Given the description of an element on the screen output the (x, y) to click on. 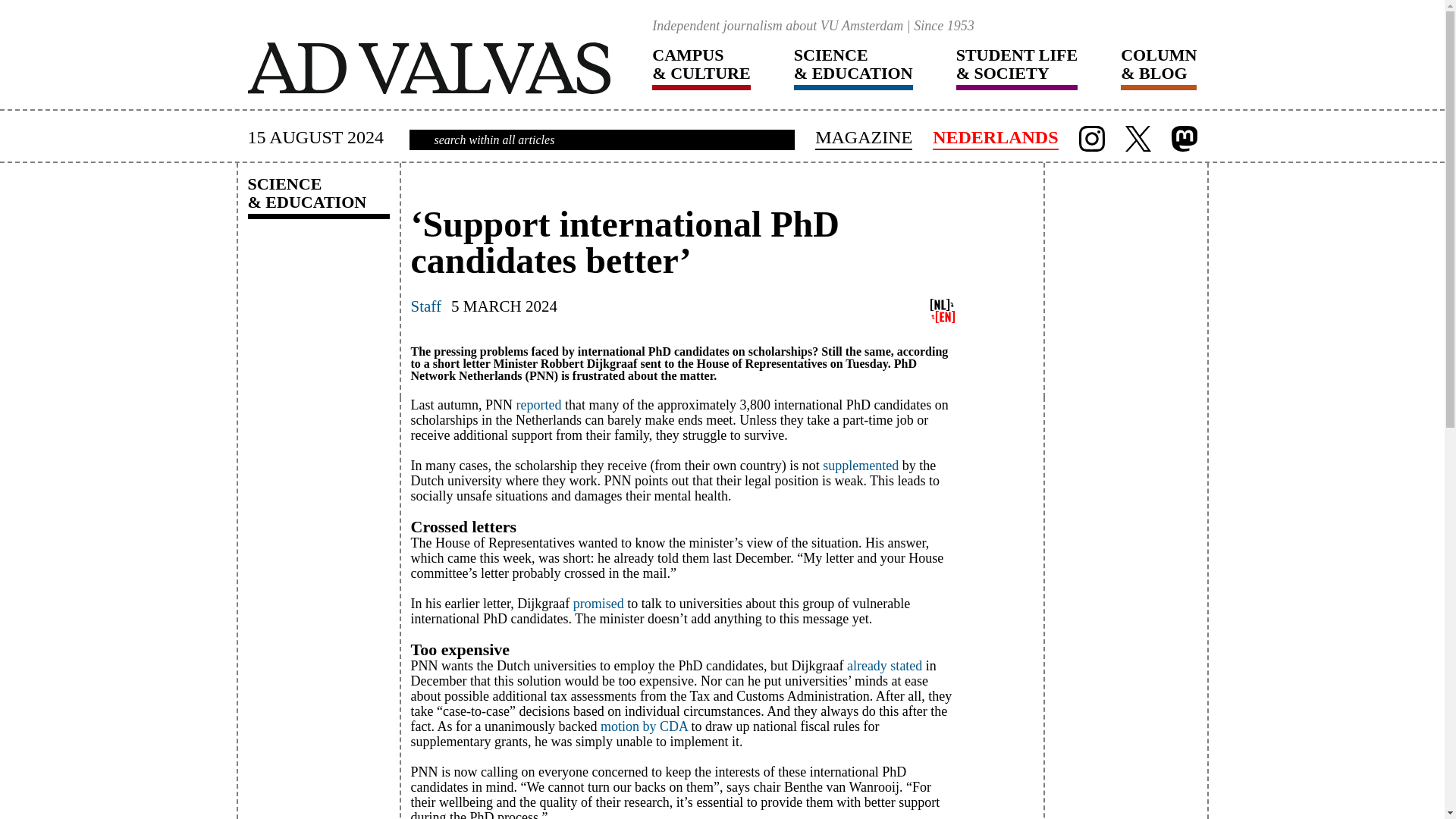
Staff (425, 311)
motion by CDA (643, 726)
NEDERLANDS (995, 137)
MAGAZINE (863, 137)
already stated (884, 665)
supplemented (860, 465)
promised (598, 603)
reported (537, 404)
